Given the description of an element on the screen output the (x, y) to click on. 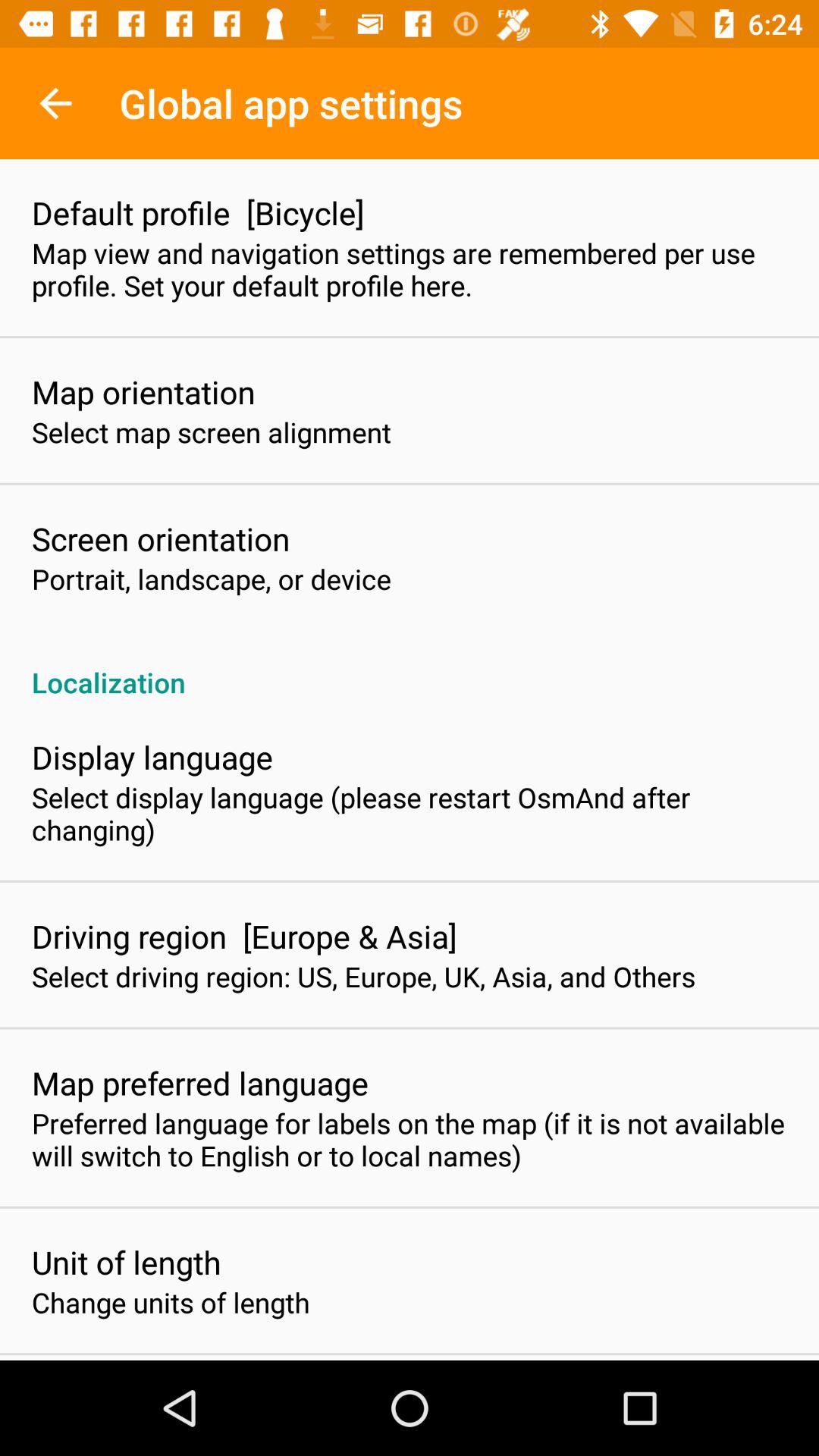
click the localization (409, 666)
